Given the description of an element on the screen output the (x, y) to click on. 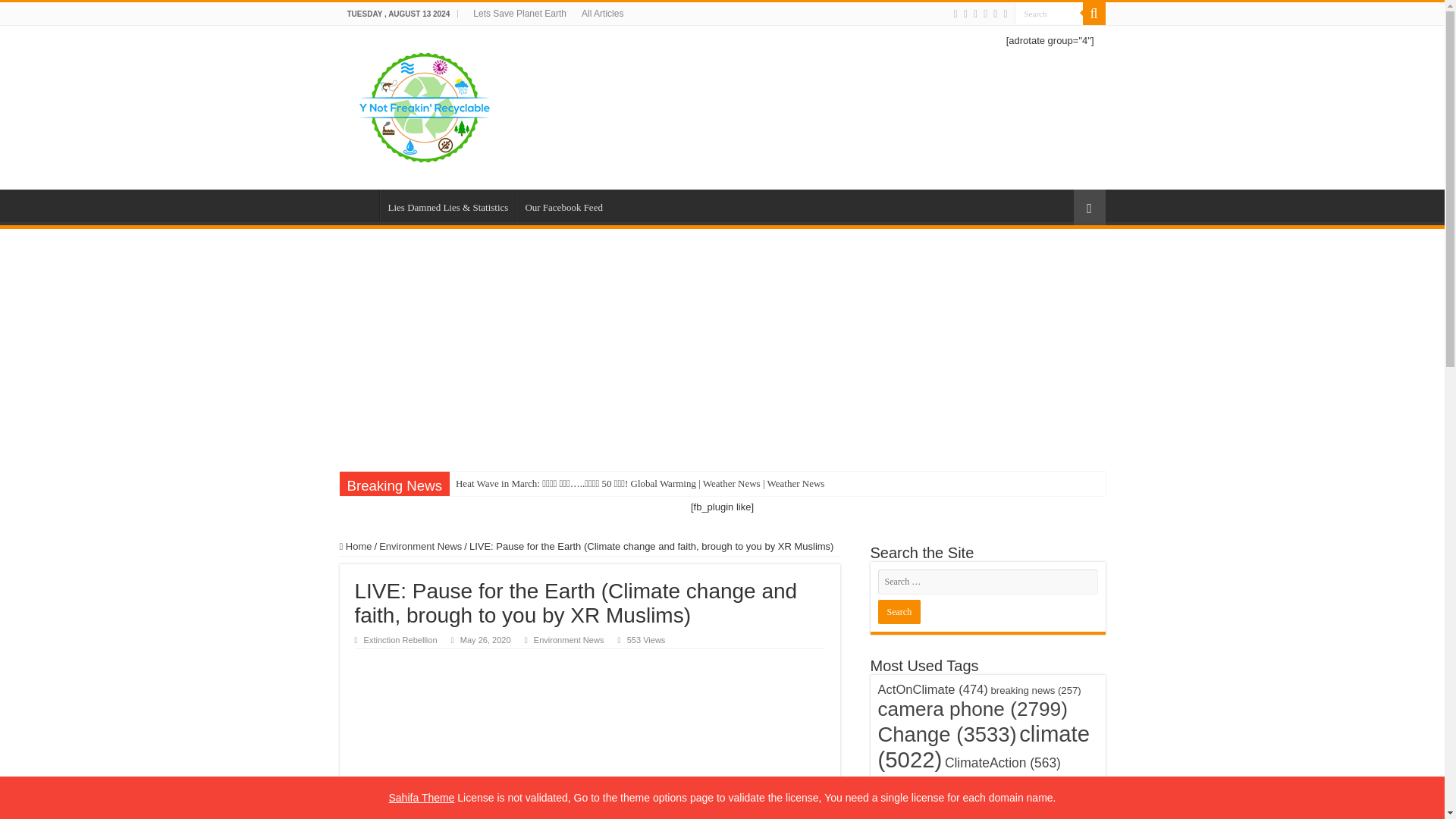
Search (1048, 13)
Lets Save Planet Earth (519, 13)
Search (899, 611)
Environment News (569, 639)
Home (355, 546)
Extinction Rebellion (401, 639)
Environment News (419, 546)
Search (899, 611)
Search (1094, 13)
Search (1048, 13)
